Given the description of an element on the screen output the (x, y) to click on. 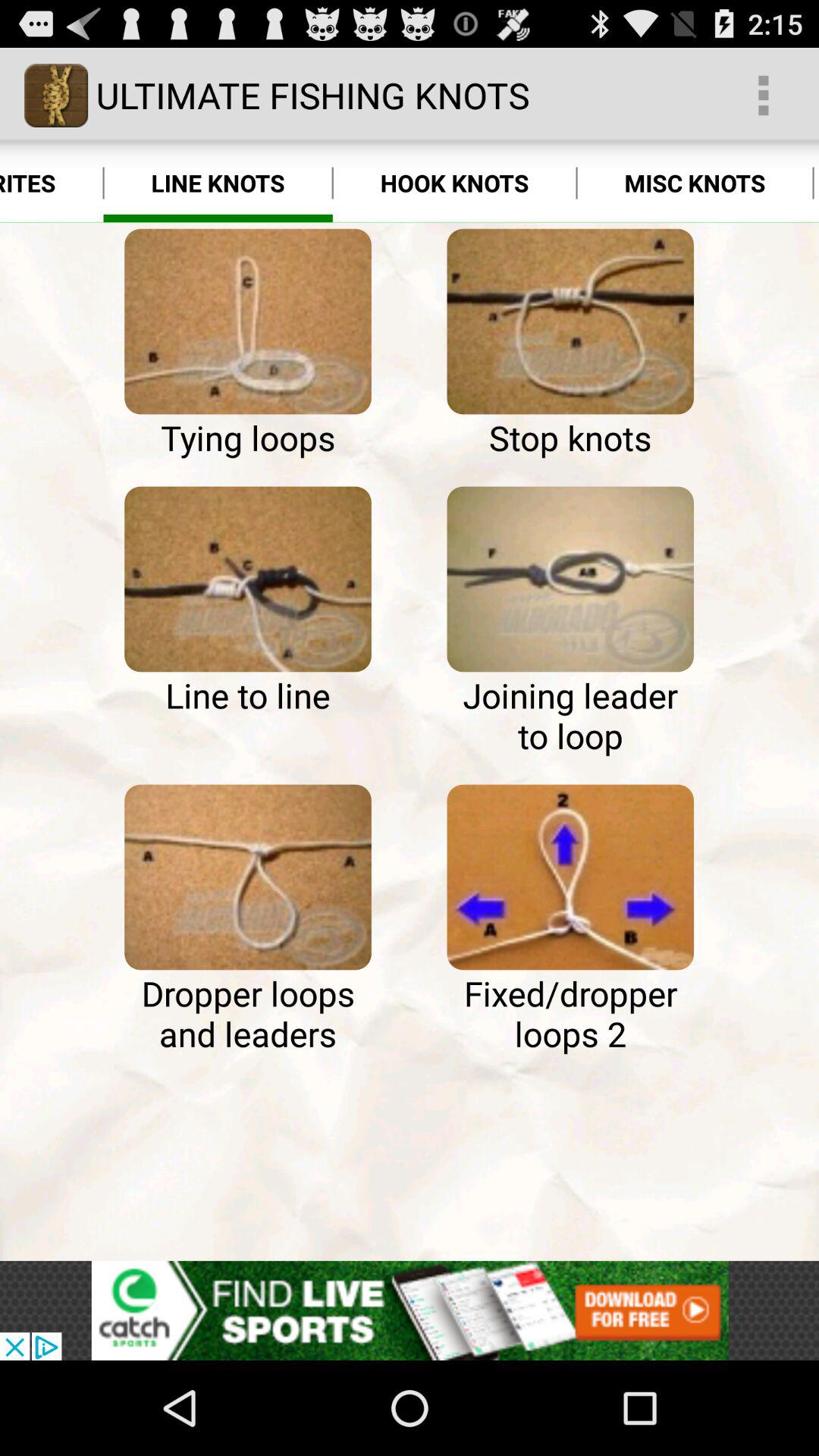
go to fixed/dropper loops 2 (570, 876)
